Given the description of an element on the screen output the (x, y) to click on. 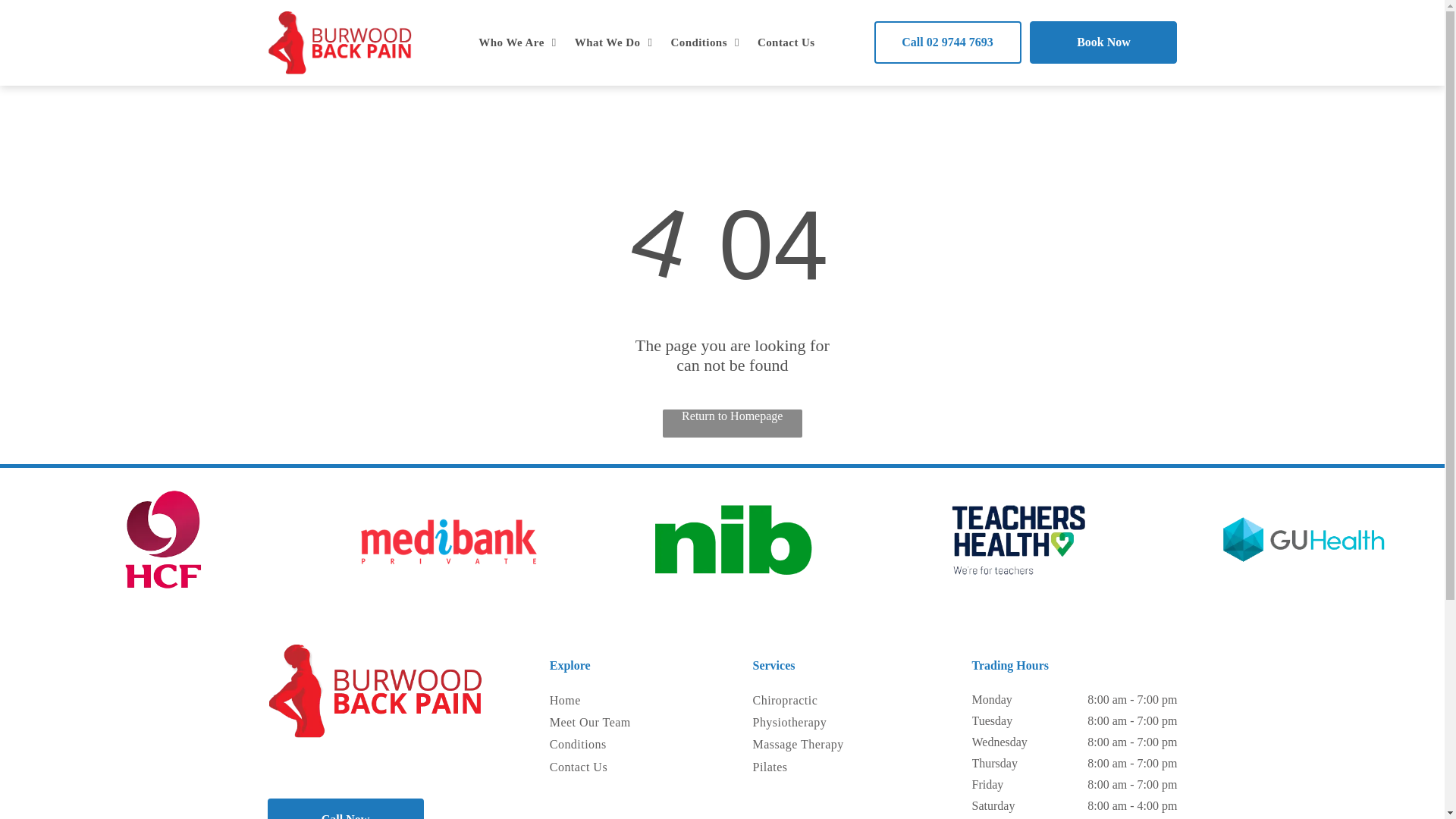
Call 02 9744 7693 (946, 42)
Conditions (598, 744)
Who We Are (516, 42)
Conditions (704, 42)
Burwood Back Pain: Chiropractic Services in Burwood (373, 690)
Burwood Back Pain: Chiropractic Services in Burwood (338, 42)
Pilates (809, 767)
Massage Therapy (809, 744)
Book Now (1102, 42)
Chiropractic (809, 700)
What We Do (614, 42)
Call Now (344, 808)
Home (598, 700)
Contact Us (786, 42)
Meet Our Team (598, 722)
